Given the description of an element on the screen output the (x, y) to click on. 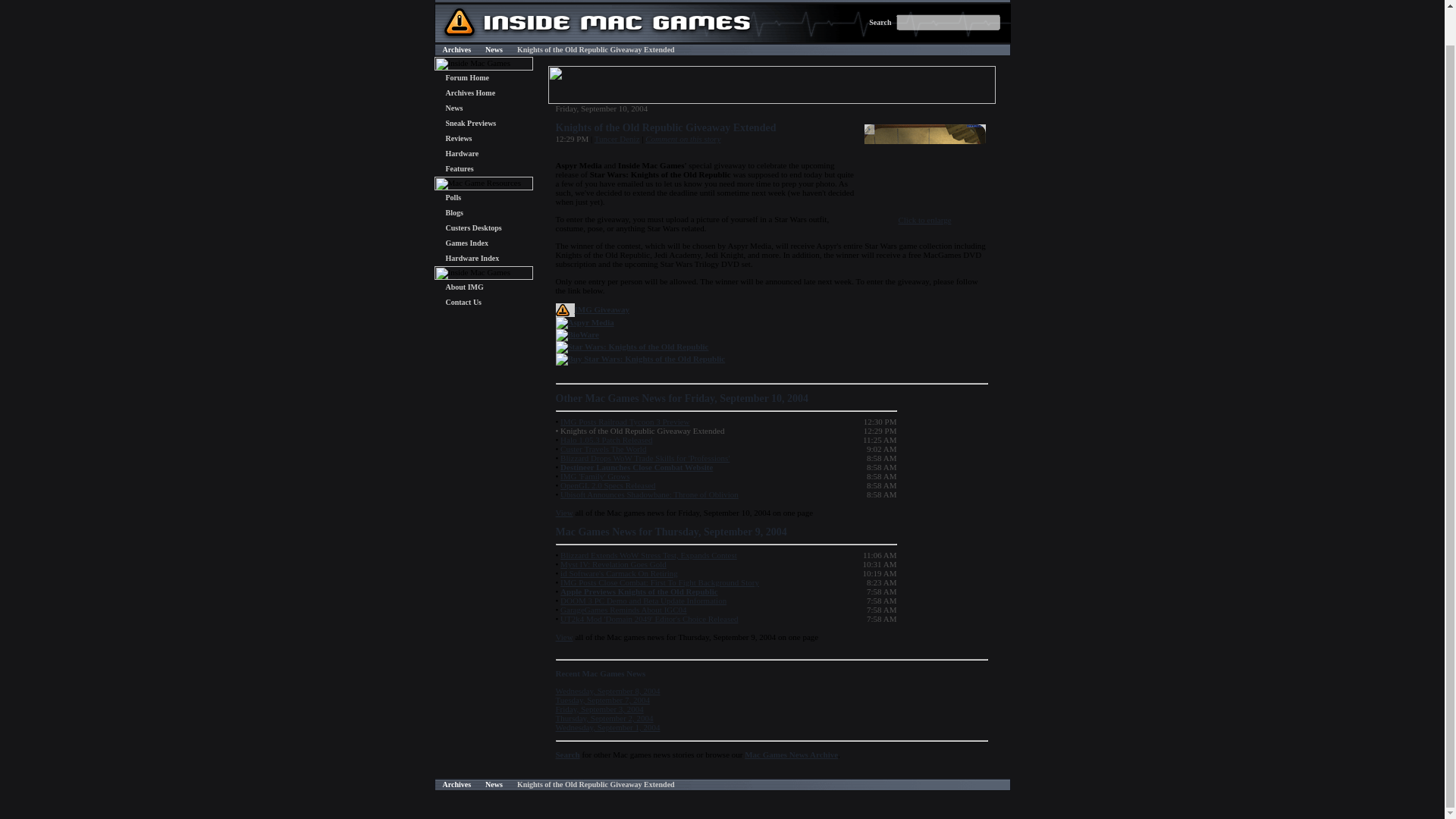
IMG 'Family' Grows (594, 475)
Click to enlarge (924, 216)
Games Index (466, 243)
News (454, 108)
Blizzard Drops WoW Trade Skills for 'Professions' (644, 457)
Halo 1.05.3 Patch Released (606, 439)
Archives (456, 49)
Sneak Previews (470, 122)
Aspyr Media (589, 321)
Hardware Index (472, 257)
IMG Giveaway (601, 308)
Blizzard Extends WoW Stress Test, Expands Contest (648, 554)
Polls (453, 197)
Reviews (458, 138)
Contact Us (463, 302)
